Given the description of an element on the screen output the (x, y) to click on. 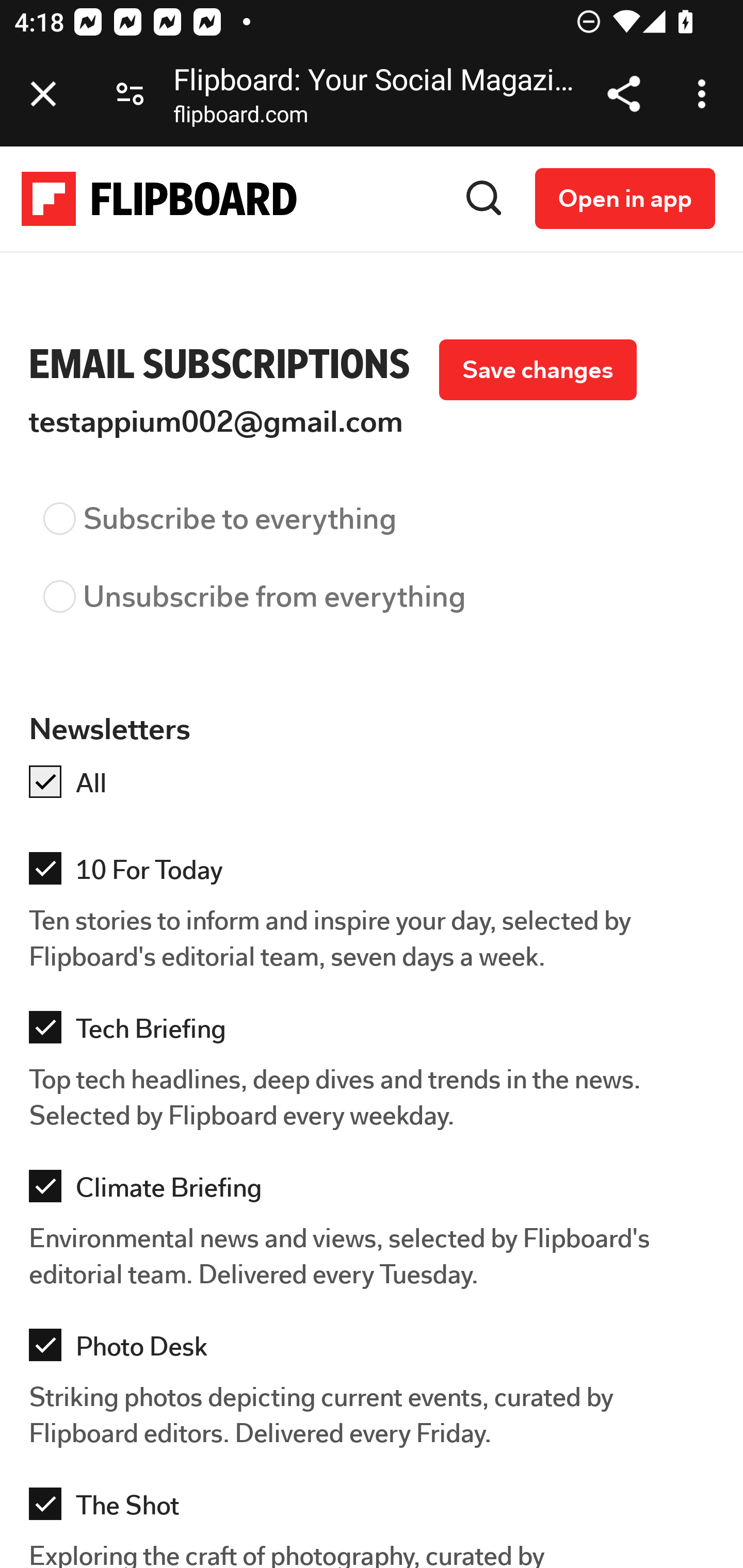
Close tab (43, 93)
Share link address (623, 93)
Customize and control Google Chrome (705, 93)
Connection is secure (129, 93)
flipboard.com (240, 117)
Open in app (625, 197)
Search (484, 198)
Save changes (536, 369)
Subscribe to everything (376, 528)
Unsubscribe from everything (376, 606)
checkmark All (376, 785)
checkmark 10 For Today (376, 872)
checkmark Tech Briefing (376, 1031)
checkmark Climate Briefing (376, 1189)
checkmark Photo Desk (376, 1348)
checkmark The Shot (376, 1508)
